Given the description of an element on the screen output the (x, y) to click on. 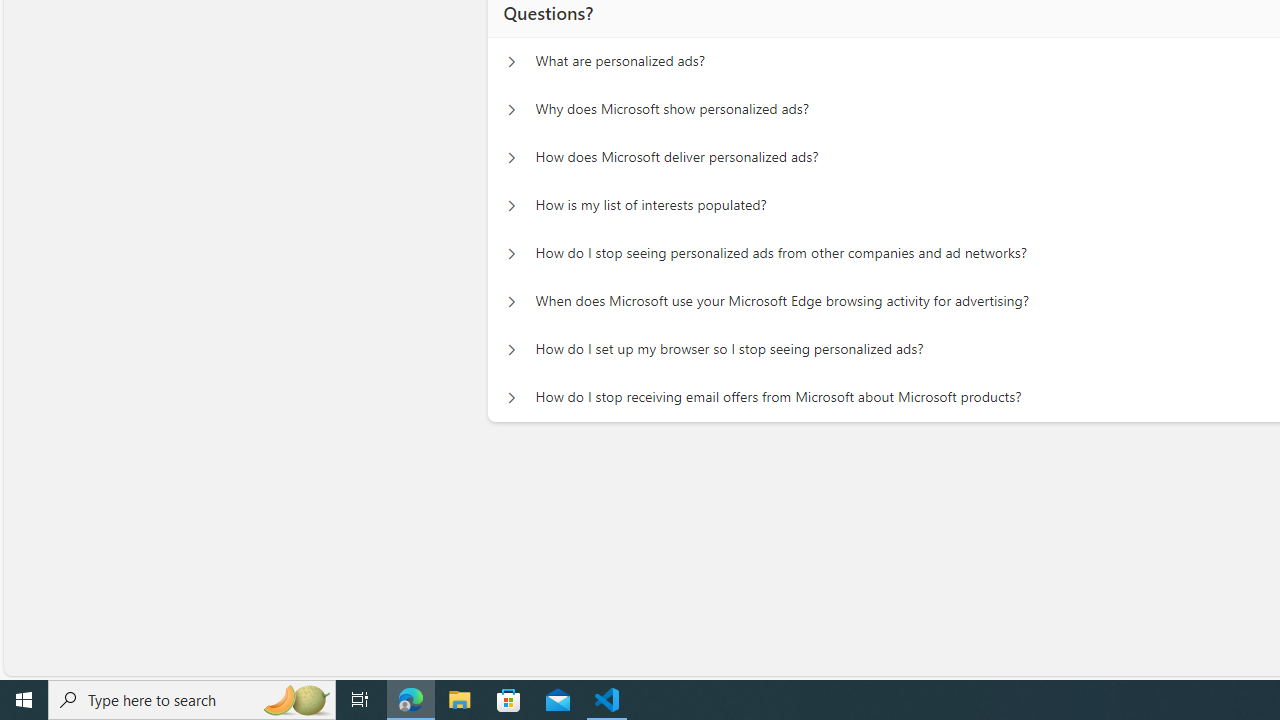
Questions? How is my list of interests populated? (511, 206)
Questions? How does Microsoft deliver personalized ads? (511, 157)
Questions? What are personalized ads? (511, 62)
Questions? Why does Microsoft show personalized ads? (511, 110)
